Given the description of an element on the screen output the (x, y) to click on. 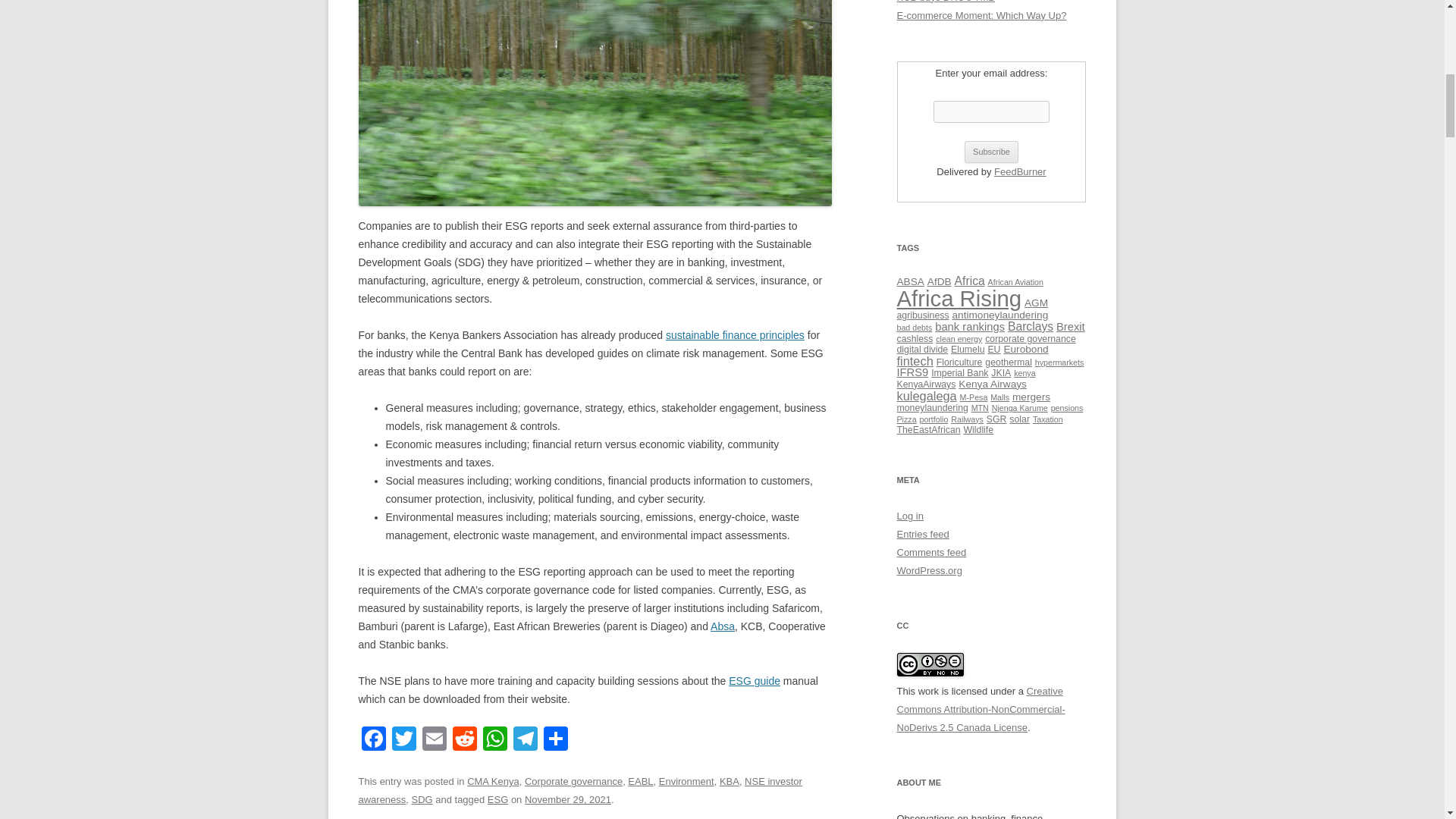
KBA (729, 781)
Reddit (463, 740)
Telegram (524, 740)
November 29, 2021 (567, 799)
11:53 am (567, 799)
Email (433, 740)
WhatsApp (494, 740)
CMA Kenya (493, 781)
sustainable finance principles (735, 335)
Reddit (463, 740)
Environment (686, 781)
Corporate governance (573, 781)
EABL (639, 781)
ESG guide (754, 680)
Facebook (373, 740)
